Given the description of an element on the screen output the (x, y) to click on. 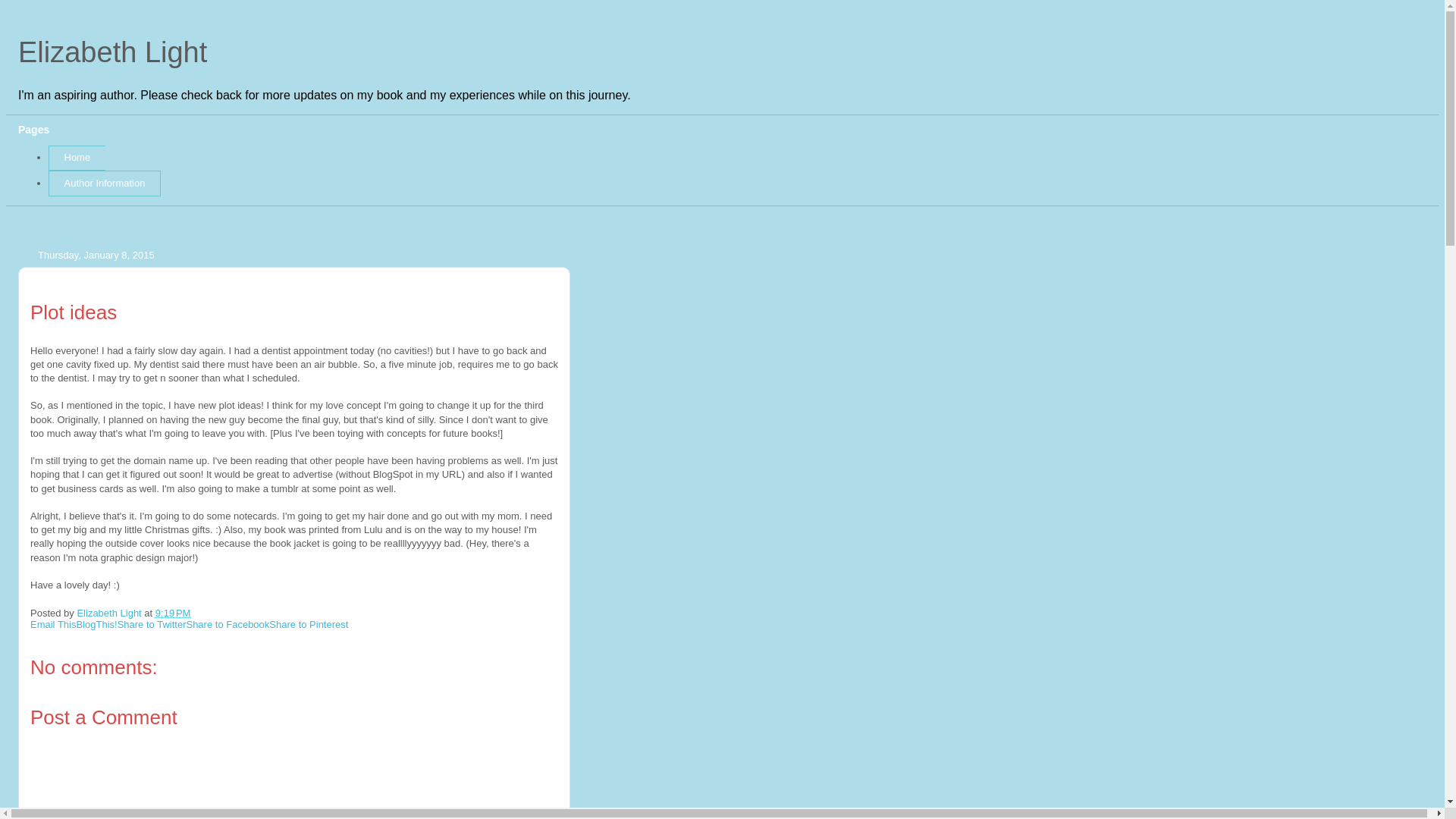
BlogThis! (95, 624)
Share to Pinterest (308, 624)
Share to Twitter (151, 624)
Share to Twitter (151, 624)
Email This (52, 624)
Author Information (104, 183)
Email This (52, 624)
Share to Pinterest (308, 624)
Elizabeth Light (111, 51)
BlogThis! (95, 624)
author profile (110, 613)
Home (76, 158)
Share to Facebook (227, 624)
Elizabeth Light (110, 613)
